Given the description of an element on the screen output the (x, y) to click on. 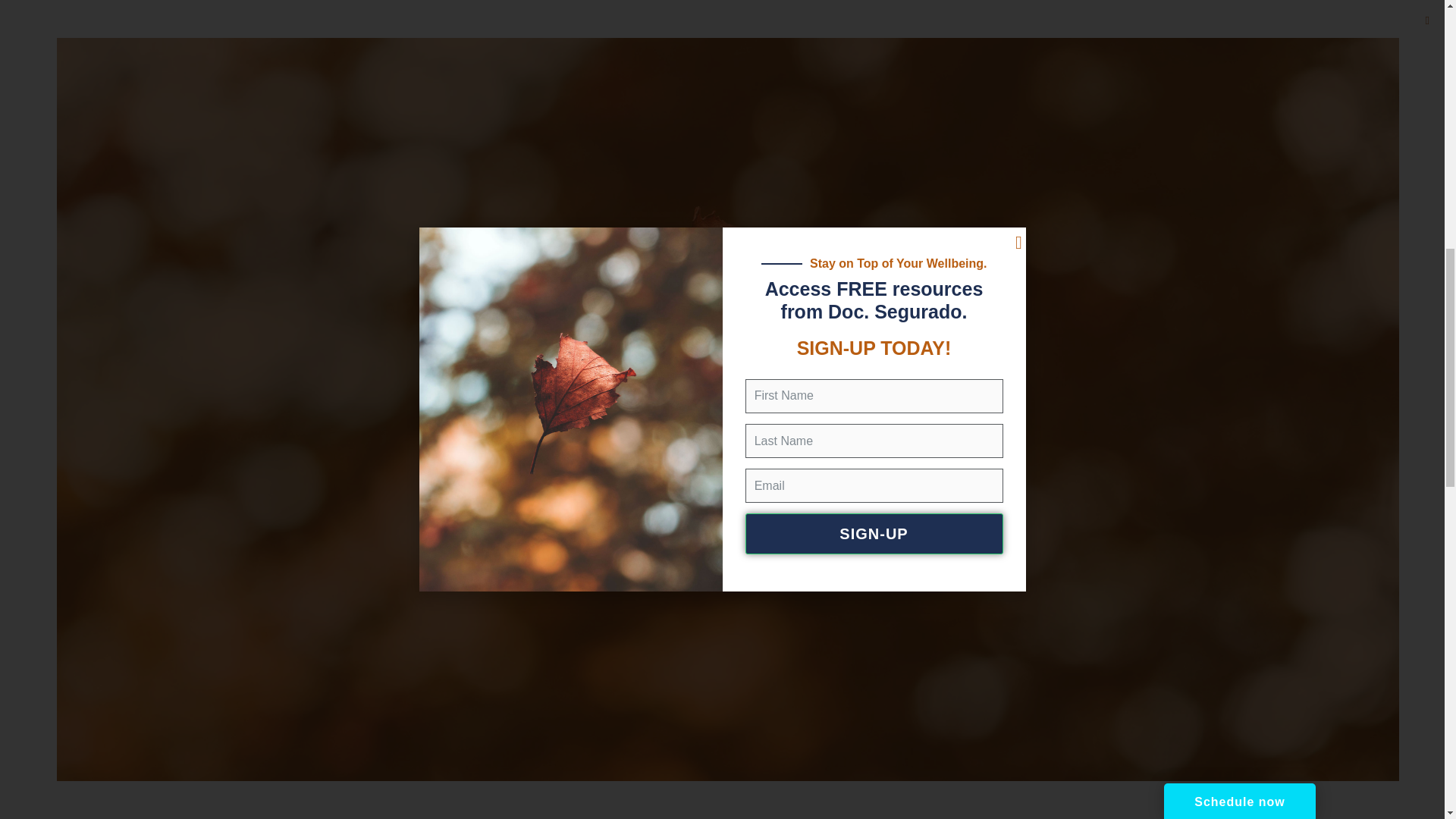
The connected CD player (774, 81)
Sign up (982, 59)
